Given the description of an element on the screen output the (x, y) to click on. 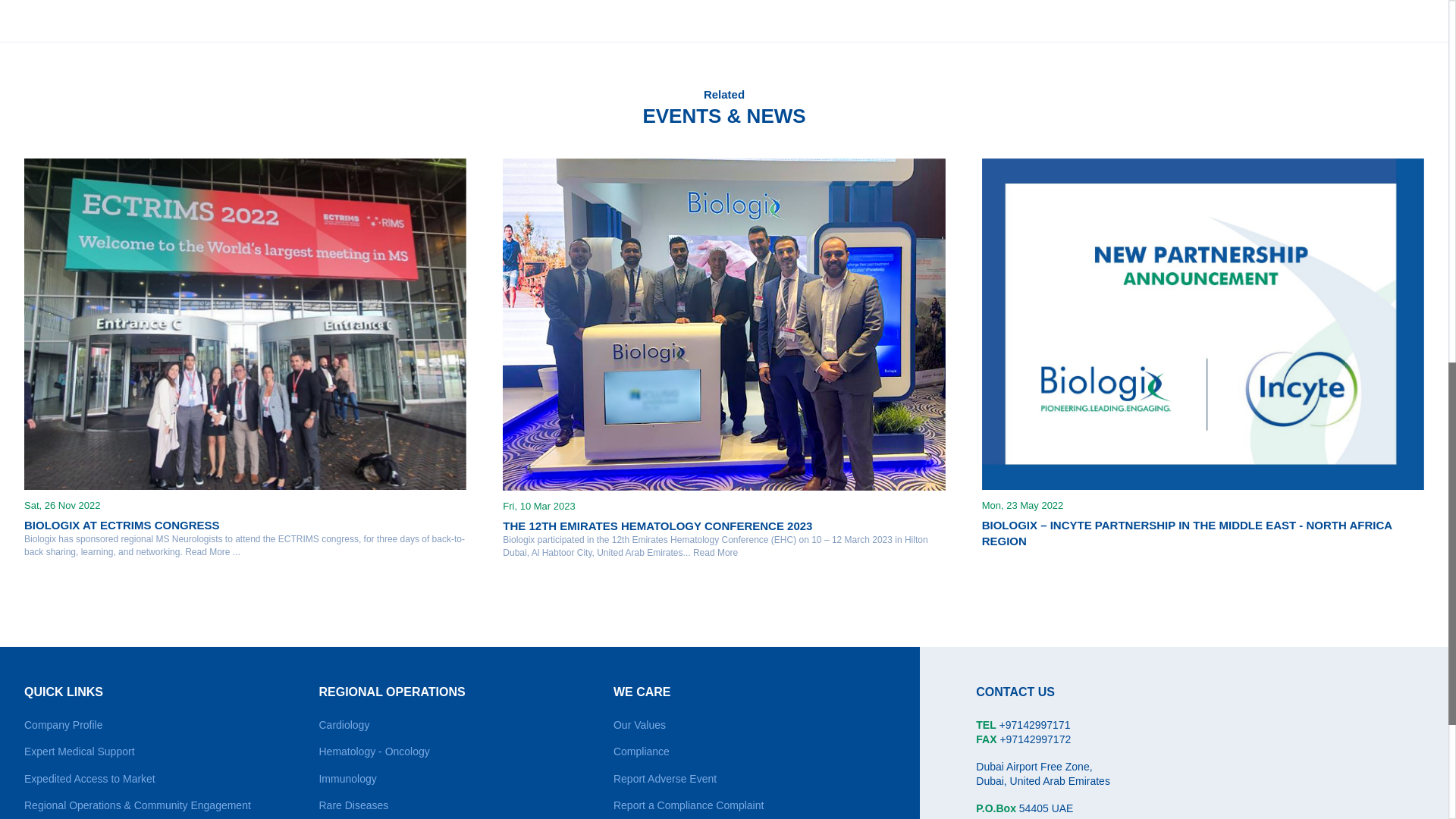
Company Profile (63, 725)
